Given the description of an element on the screen output the (x, y) to click on. 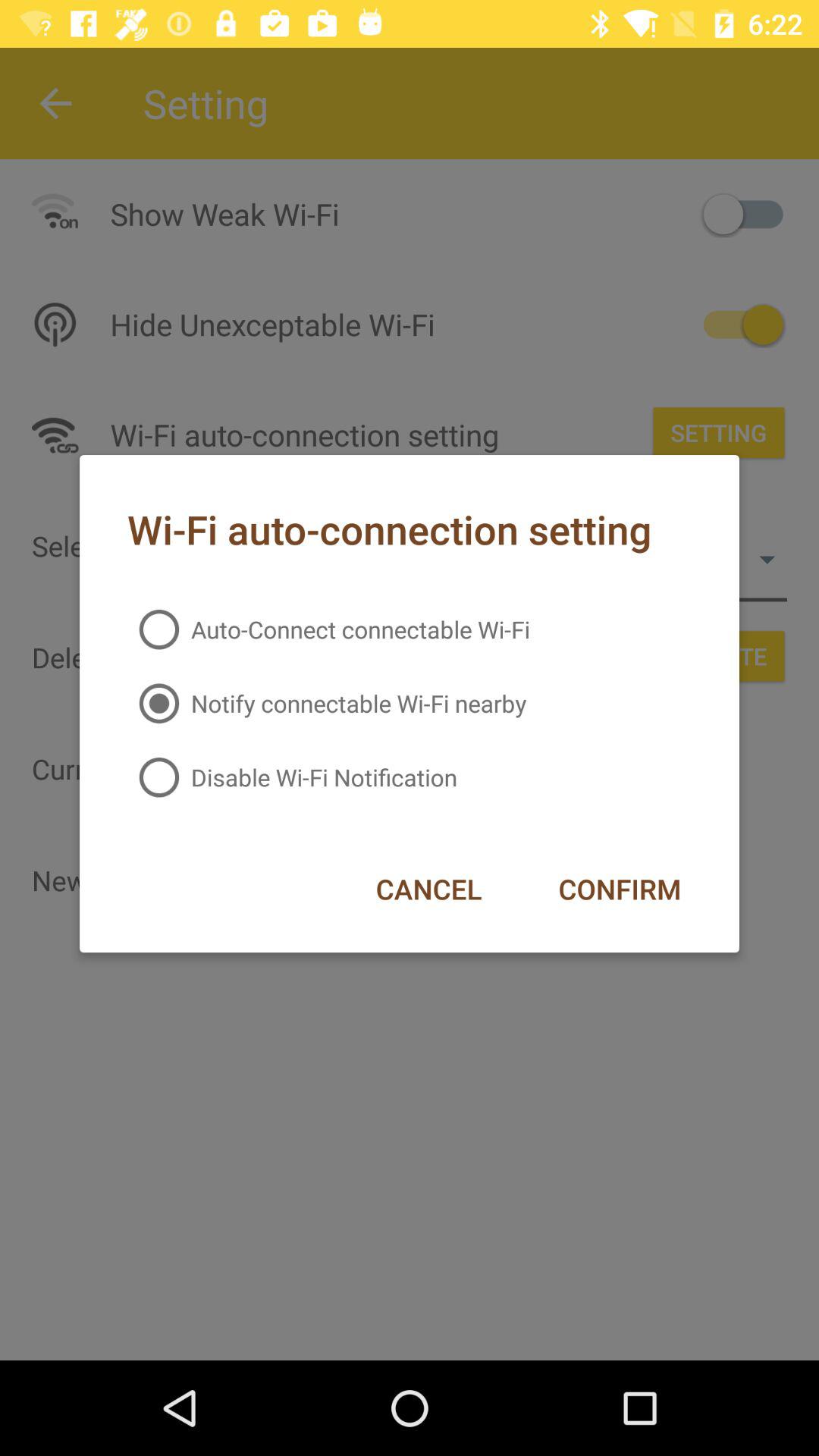
launch item above the notify connectable wi (328, 629)
